Given the description of an element on the screen output the (x, y) to click on. 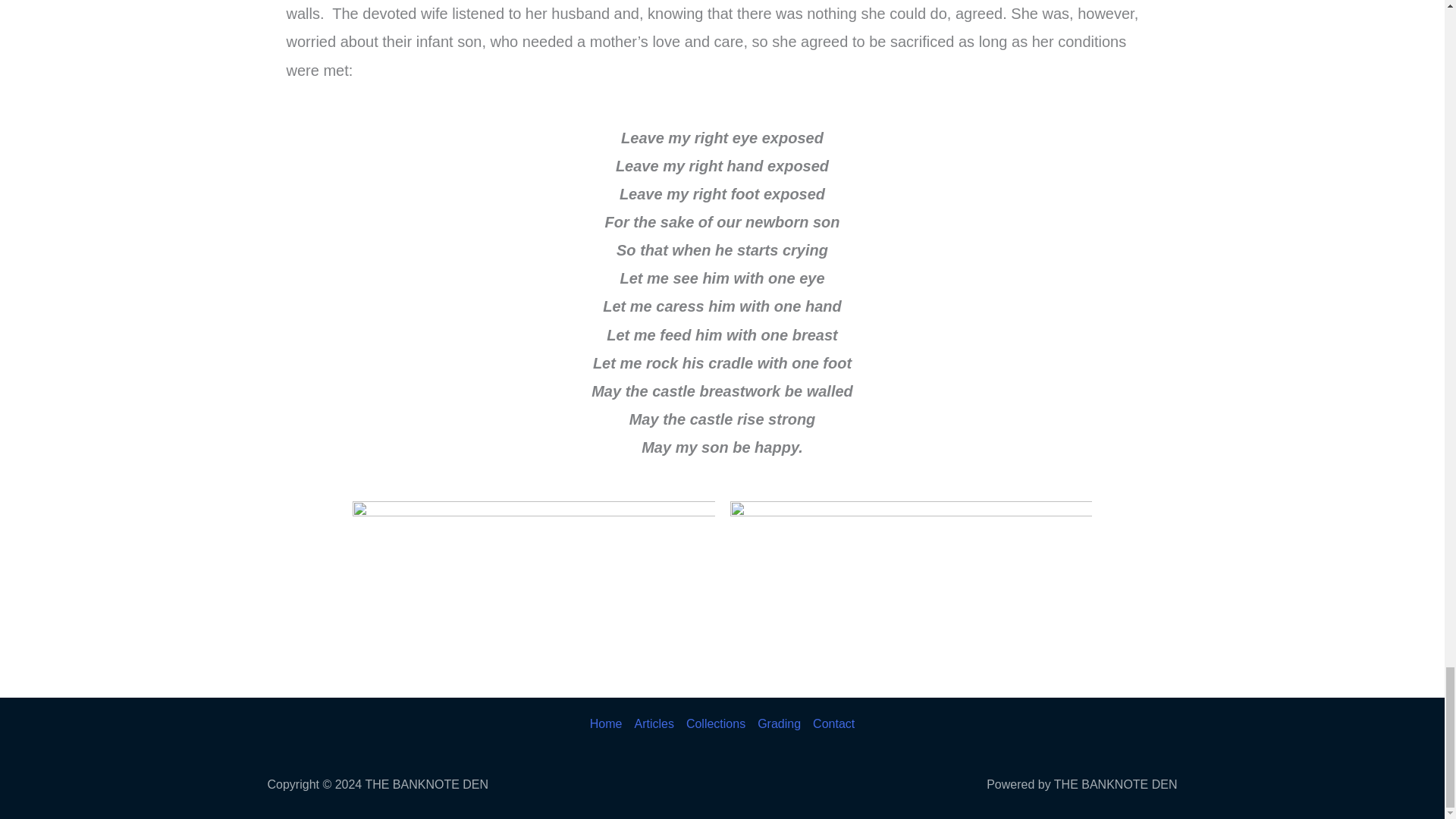
Collections (715, 723)
Grading (778, 723)
Articles (653, 723)
Contact (830, 723)
Home (608, 723)
